Given the description of an element on the screen output the (x, y) to click on. 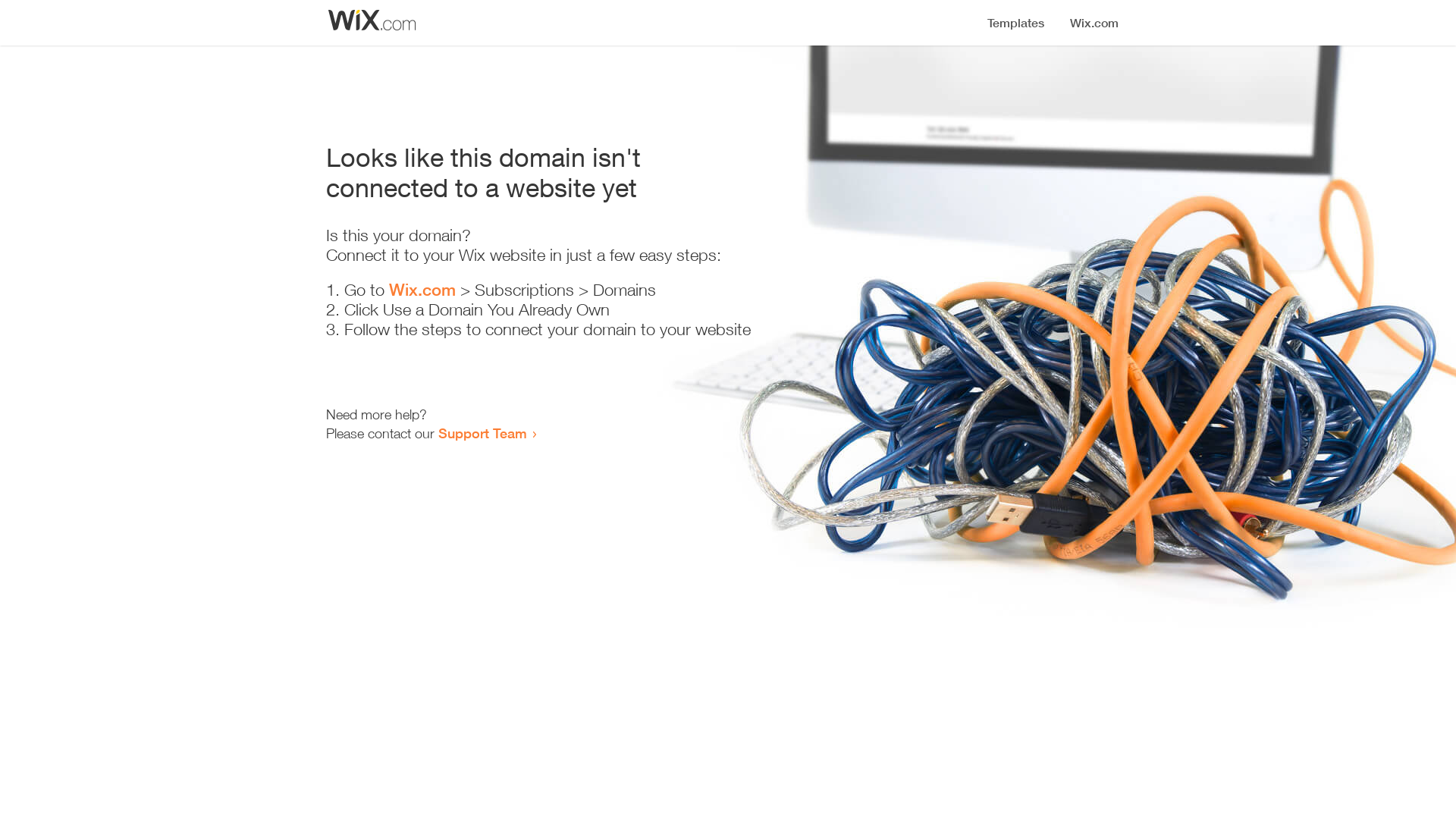
Wix.com Element type: text (422, 289)
Support Team Element type: text (482, 432)
